Given the description of an element on the screen output the (x, y) to click on. 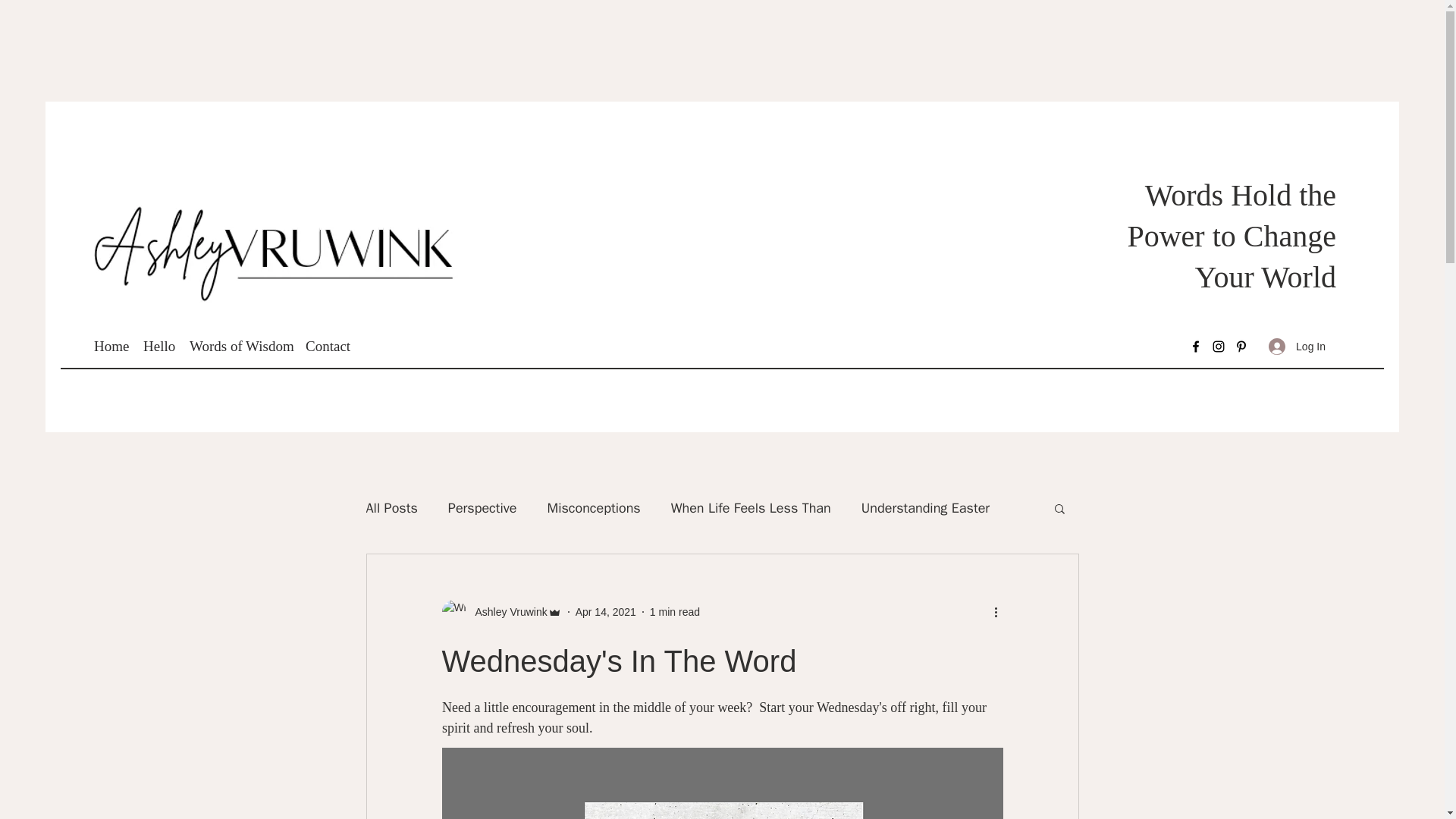
Ashley Vruwink (500, 611)
Understanding Easter (925, 507)
Contact (328, 345)
Ashley Vruwink (506, 611)
1 min read (674, 611)
Words of Wisdom (240, 345)
Perspective (482, 507)
Log In (1296, 346)
Apr 14, 2021 (605, 611)
When Life Feels Less Than (751, 507)
Misconceptions (593, 507)
All Posts (390, 507)
Hello (158, 345)
Home (110, 345)
